Given the description of an element on the screen output the (x, y) to click on. 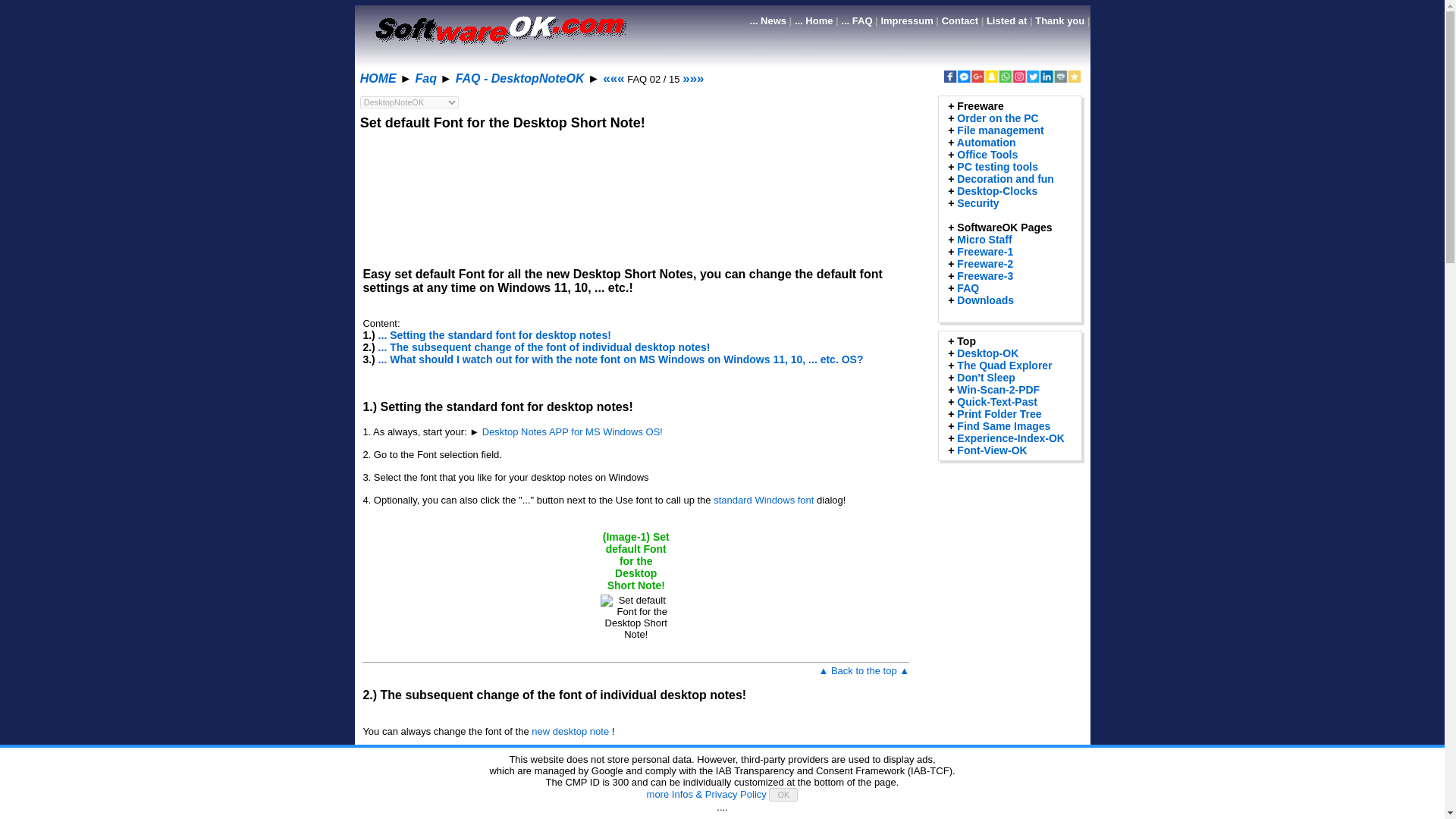
... FAQ (856, 20)
 OK  (782, 794)
Impressum (906, 20)
Desktop Notes APP for MS Windows OS!  (573, 431)
FAQ - DesktopNoteOK (520, 78)
... Home (813, 20)
Listed at (1006, 20)
... see Image-2 Point 1 to 3 (427, 817)
Contact (960, 20)
... Setting the standard font for desktop notes! (494, 335)
